Given the description of an element on the screen output the (x, y) to click on. 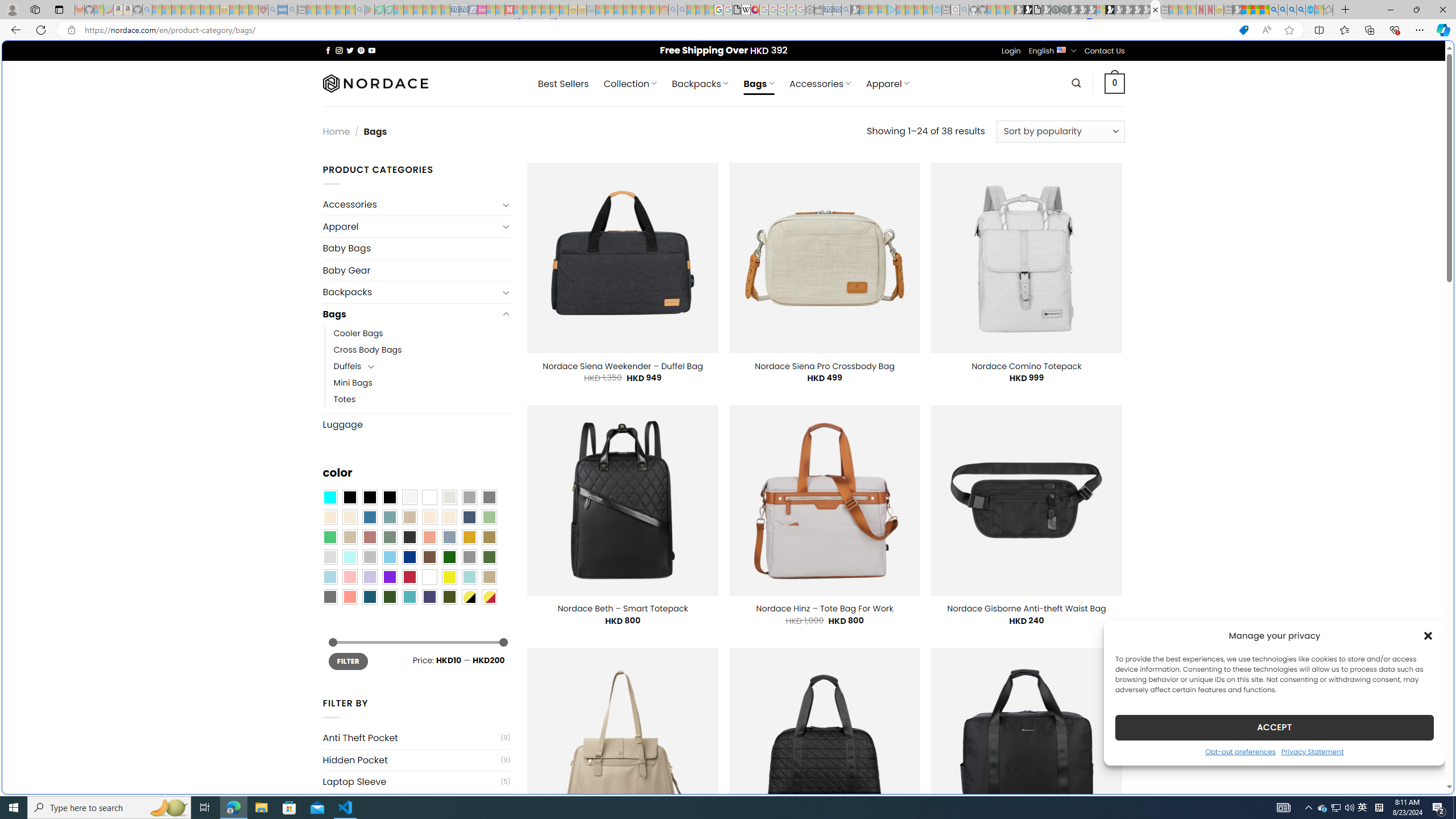
Kelp (488, 536)
Opt-out preferences (1240, 750)
Navy Blue (408, 557)
Yellow-Red (488, 596)
Purple Navy (429, 596)
Aqua Blue (329, 497)
Follow on Instagram (338, 49)
Mint (349, 557)
Luggage (416, 423)
